Given the description of an element on the screen output the (x, y) to click on. 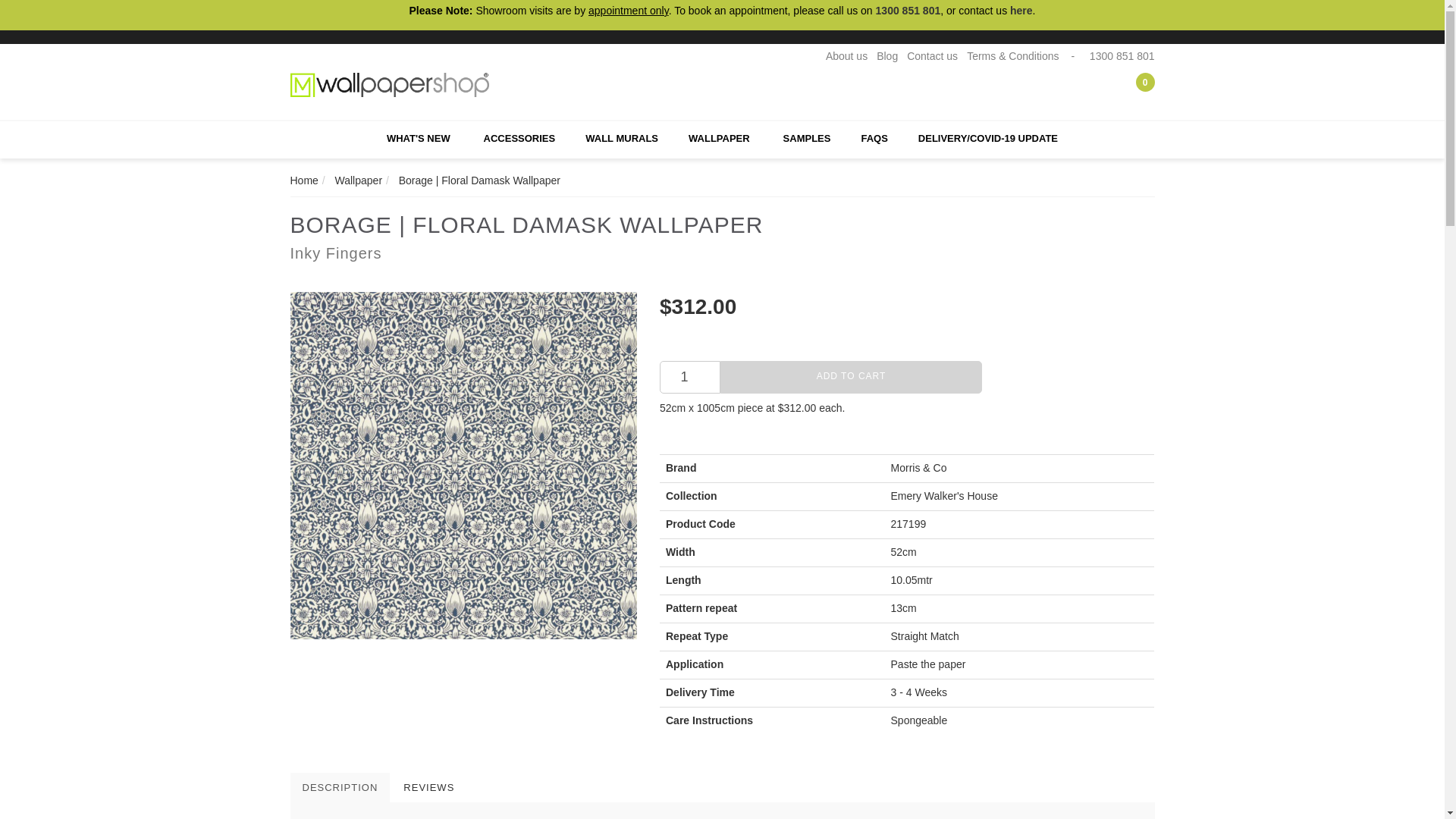
 1300 851 801 (1120, 56)
Large View (463, 465)
Contact us (932, 56)
1300 851 801 (908, 10)
Wallpaper Shop - Karalee Trading Pty Ltd (389, 83)
1 (689, 377)
Add to Cart (850, 377)
About us (846, 56)
here (1021, 10)
Search (1102, 88)
